Given the description of an element on the screen output the (x, y) to click on. 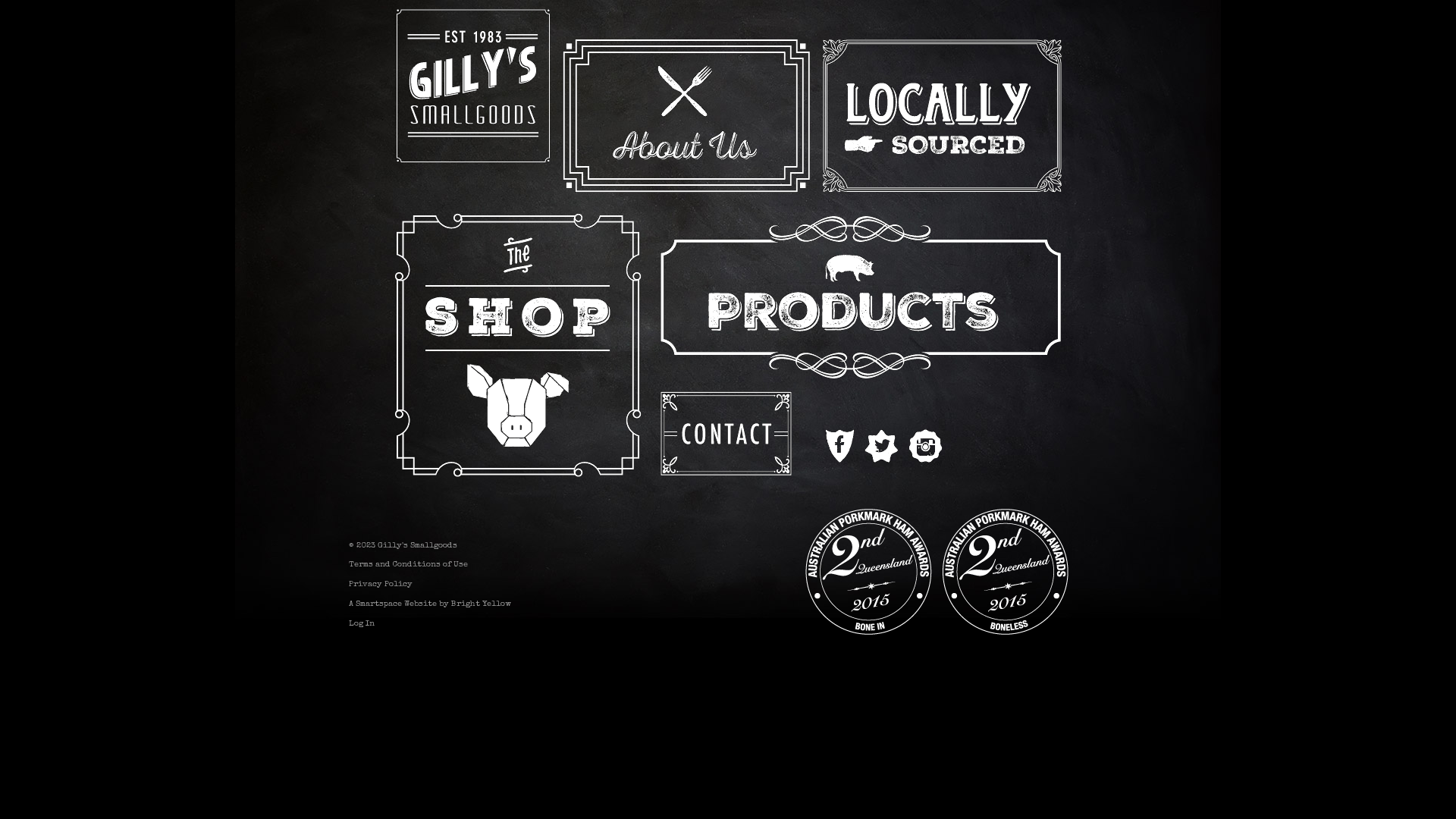
Privacy Policy Element type: text (380, 584)
Instagram Element type: hover (928, 443)
About Us Element type: text (692, 115)
Terms and Conditions of Use Element type: text (407, 564)
A Smartspace Website Element type: text (392, 603)
Twitter Element type: hover (882, 443)
Locally Sourced Element type: text (955, 115)
Home Element type: hover (472, 85)
Products Element type: text (864, 295)
Facebook Element type: hover (837, 443)
by Bright Yellow Element type: text (475, 603)
Log In Element type: text (361, 623)
The Shop Element type: text (519, 344)
Contact Element type: text (727, 443)
